Given the description of an element on the screen output the (x, y) to click on. 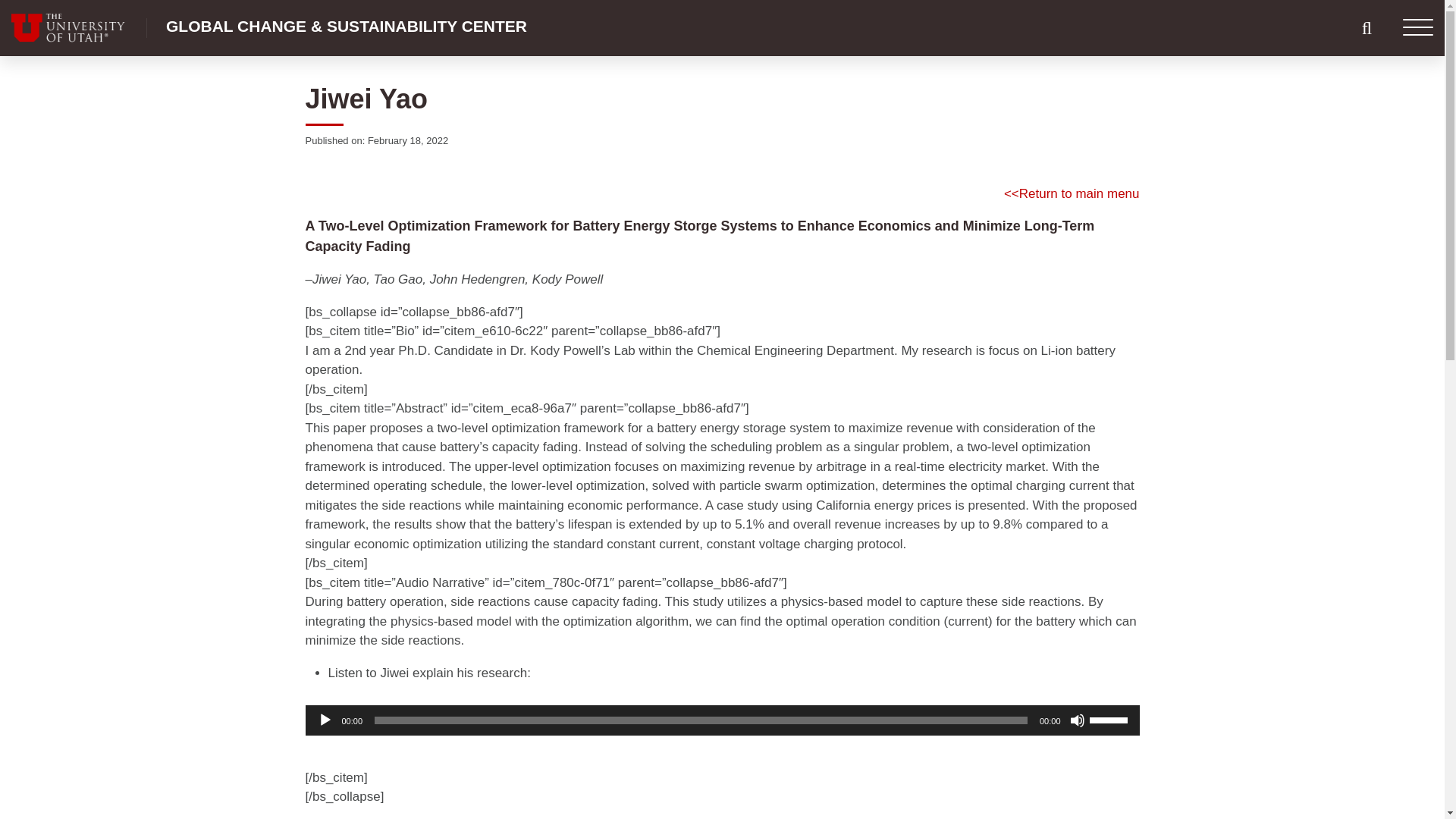
Play (324, 720)
Mute (1076, 720)
